Given the description of an element on the screen output the (x, y) to click on. 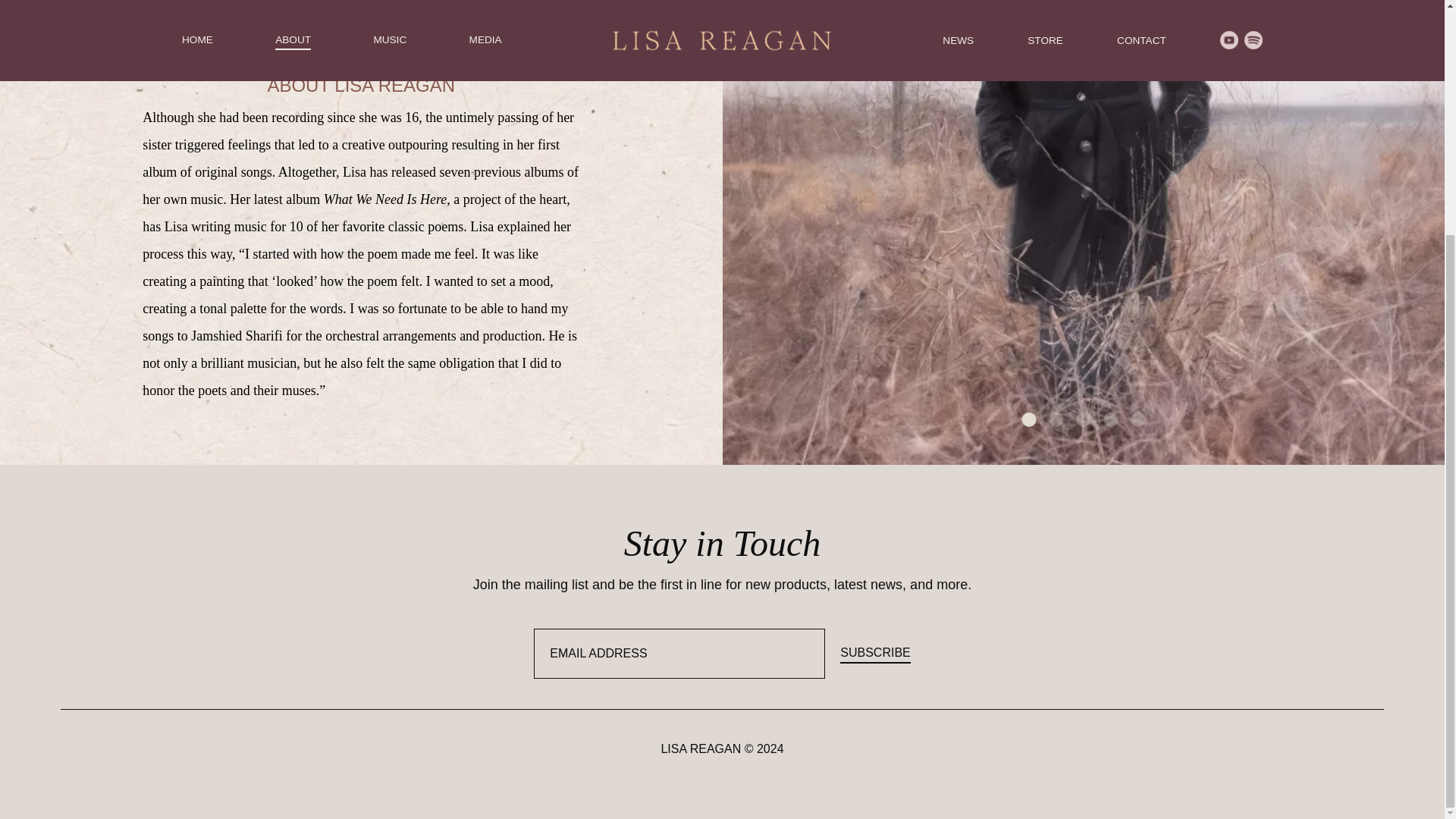
SUBSCRIBE (875, 653)
